Given the description of an element on the screen output the (x, y) to click on. 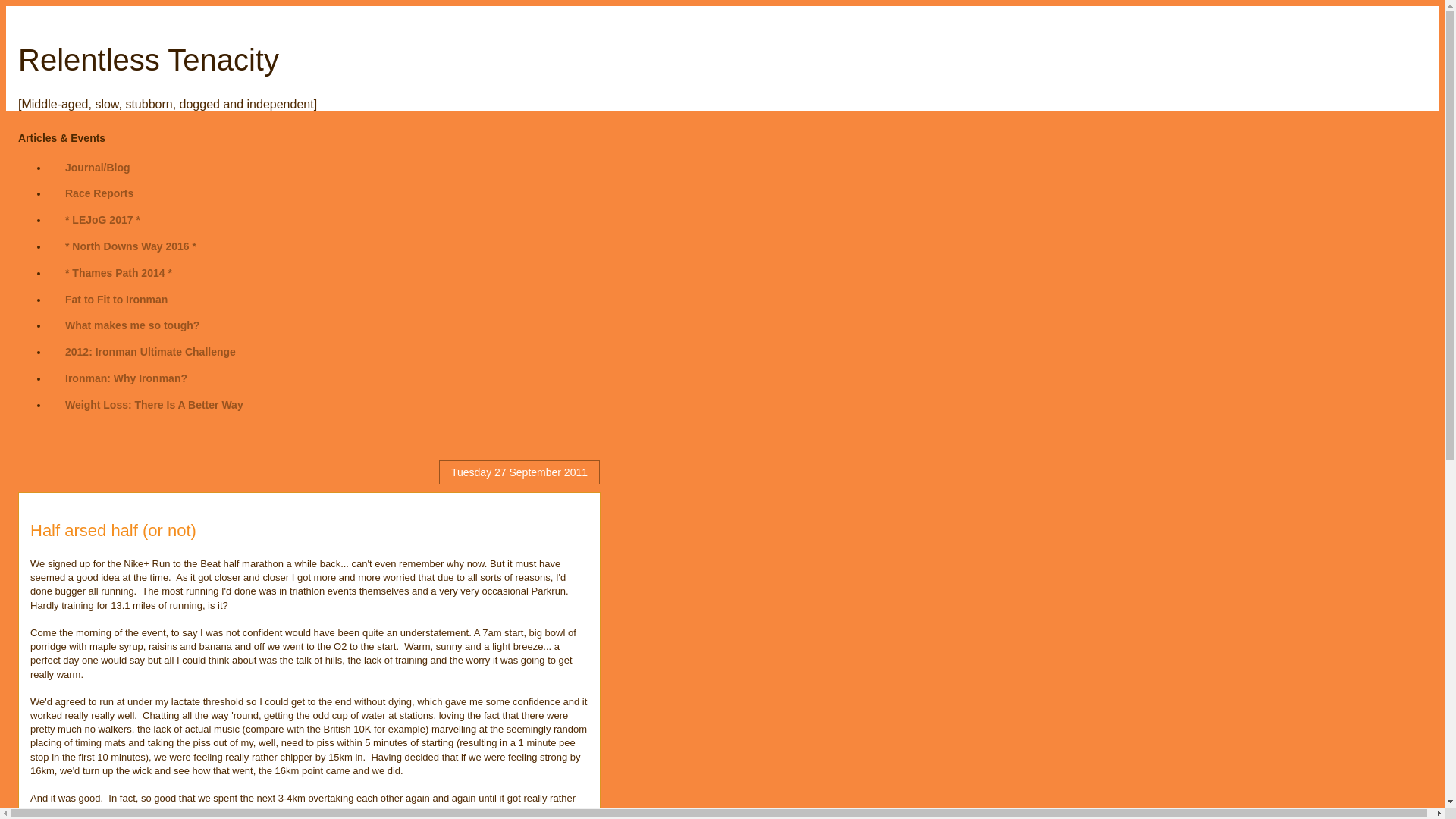
2012: Ironman Ultimate Challenge (149, 352)
Ironman: Why Ironman? (125, 377)
What makes me so tough? (131, 325)
Fat to Fit to Ironman (115, 298)
Race Reports (98, 193)
Relentless Tenacity (148, 59)
Weight Loss: There Is A Better Way (154, 404)
